Given the description of an element on the screen output the (x, y) to click on. 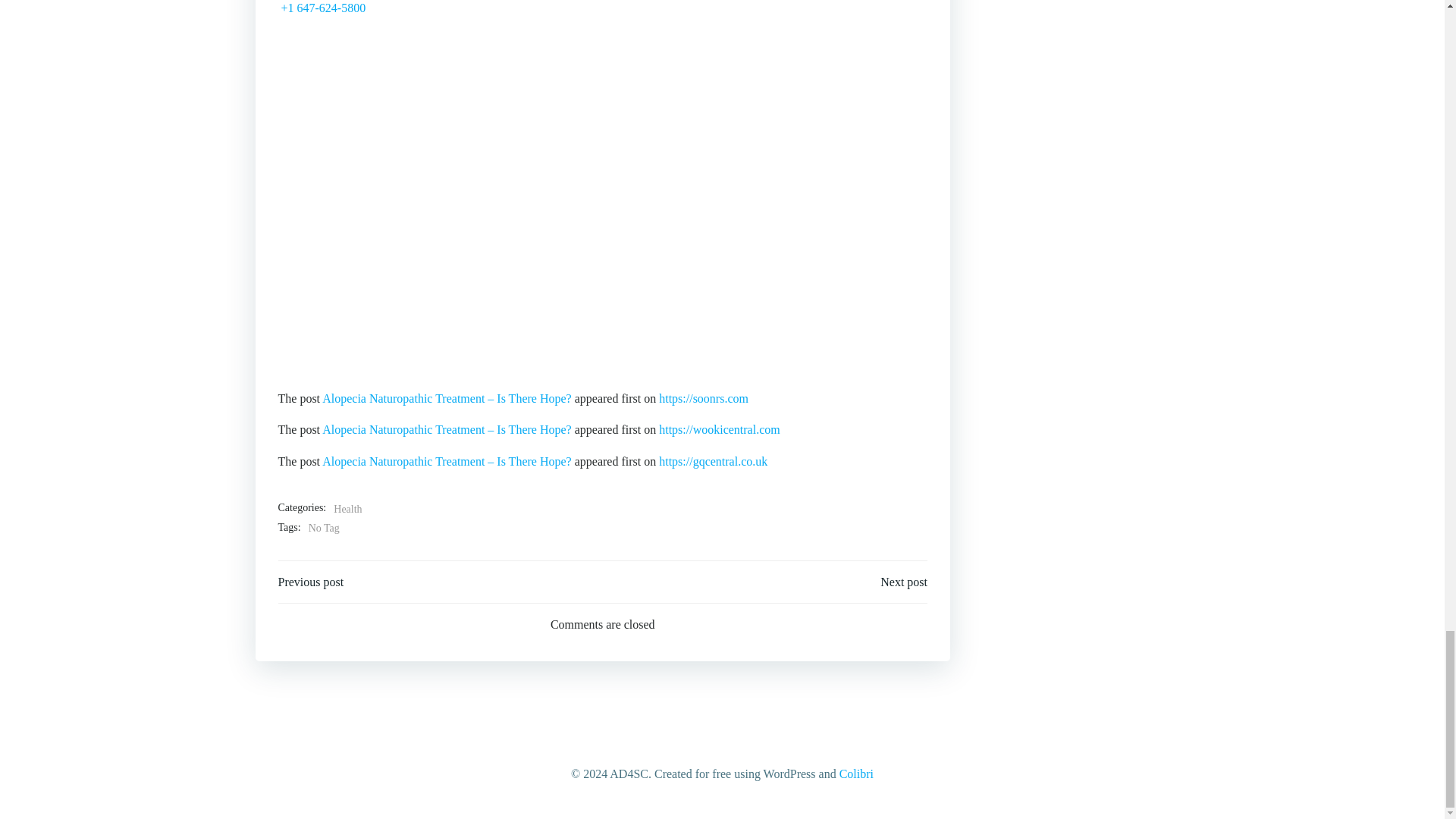
Next post (903, 582)
Health (347, 509)
Previous post (310, 582)
